Given the description of an element on the screen output the (x, y) to click on. 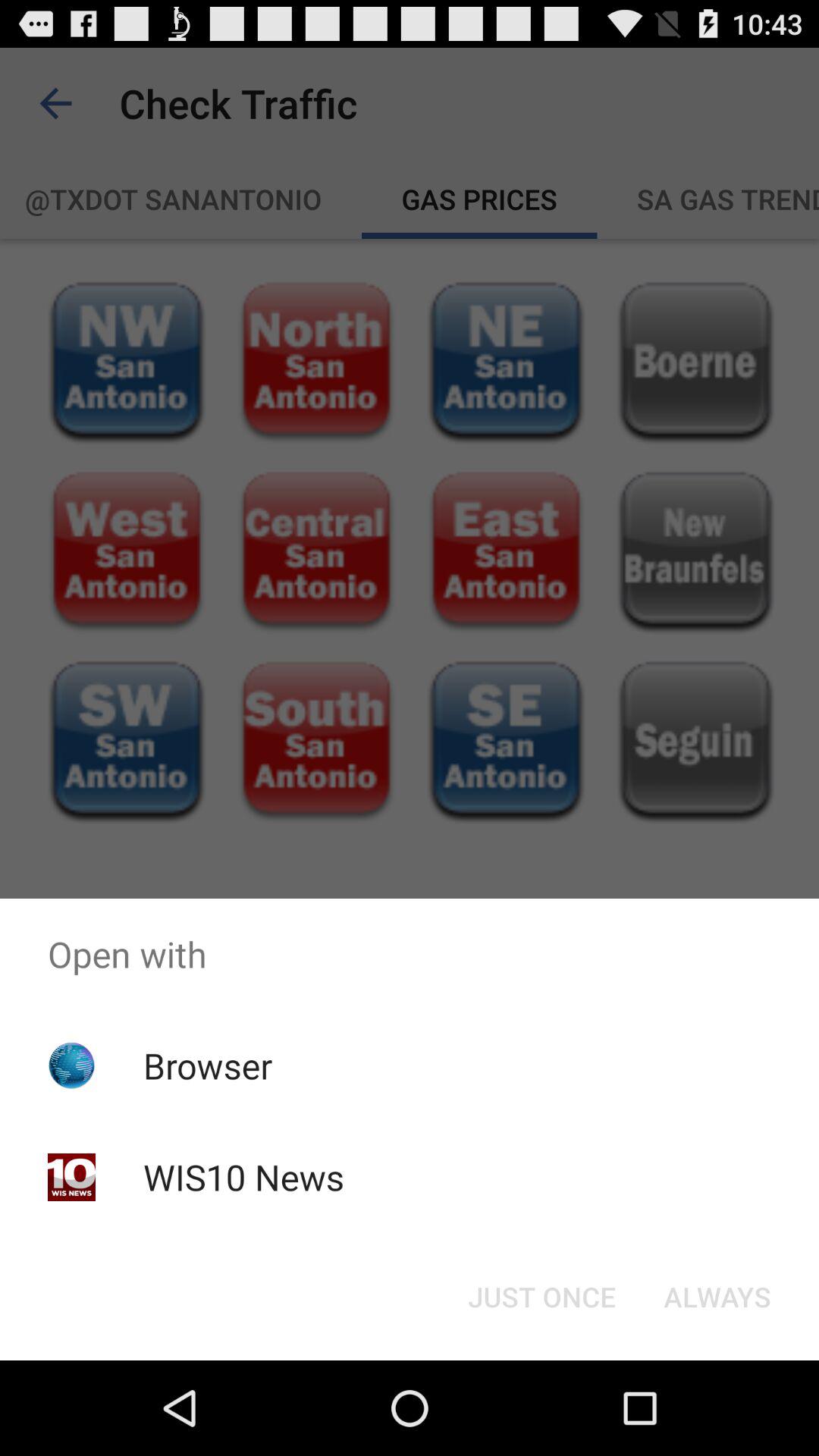
press the item below the open with (717, 1296)
